Given the description of an element on the screen output the (x, y) to click on. 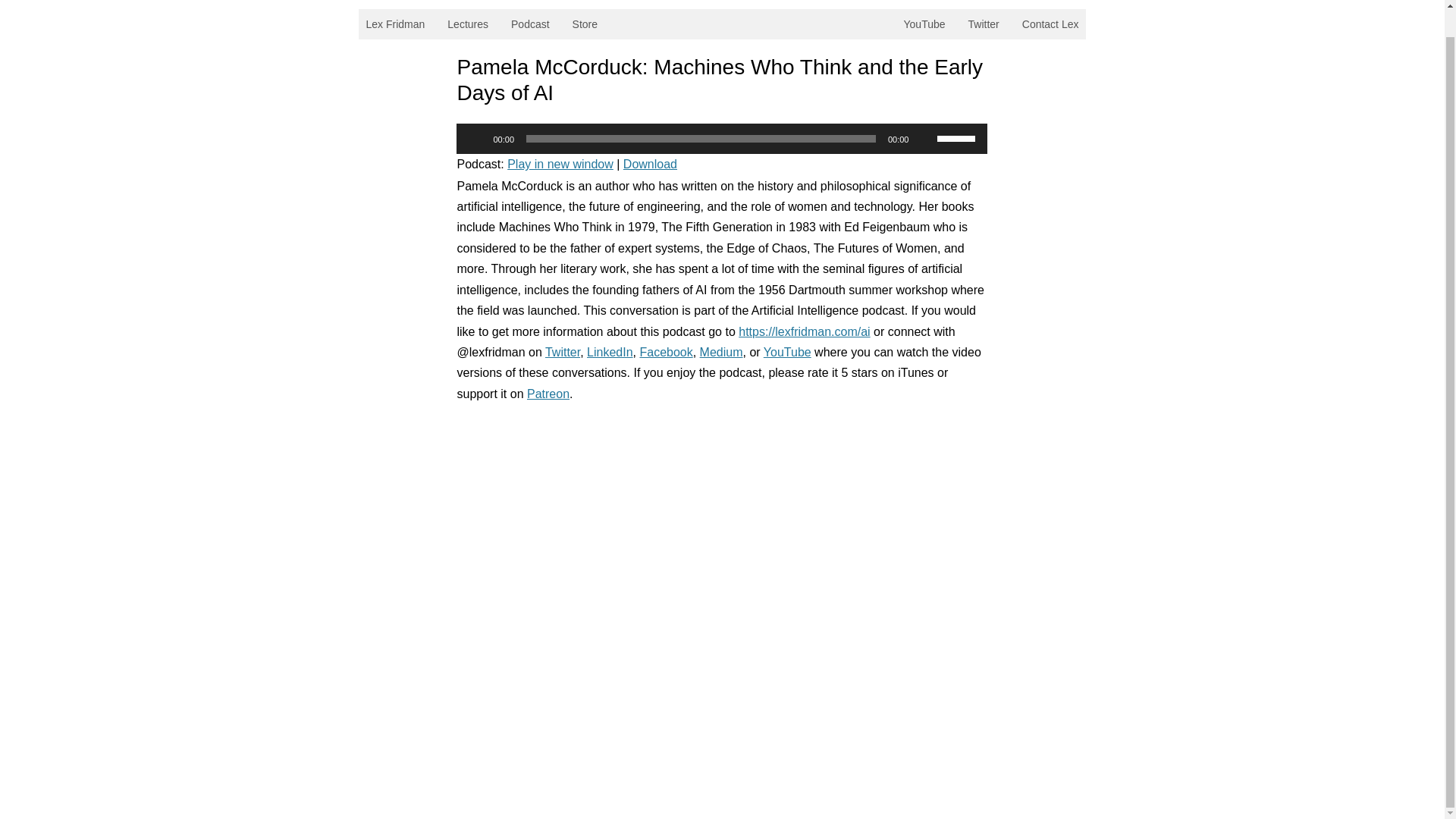
Patreon (548, 393)
Podcast (530, 24)
YouTube (924, 24)
Mute (925, 138)
Download (650, 164)
Contact Lex (1050, 24)
Download (650, 164)
Lex Fridman (395, 24)
YouTube (786, 351)
Medium (721, 351)
